Given the description of an element on the screen output the (x, y) to click on. 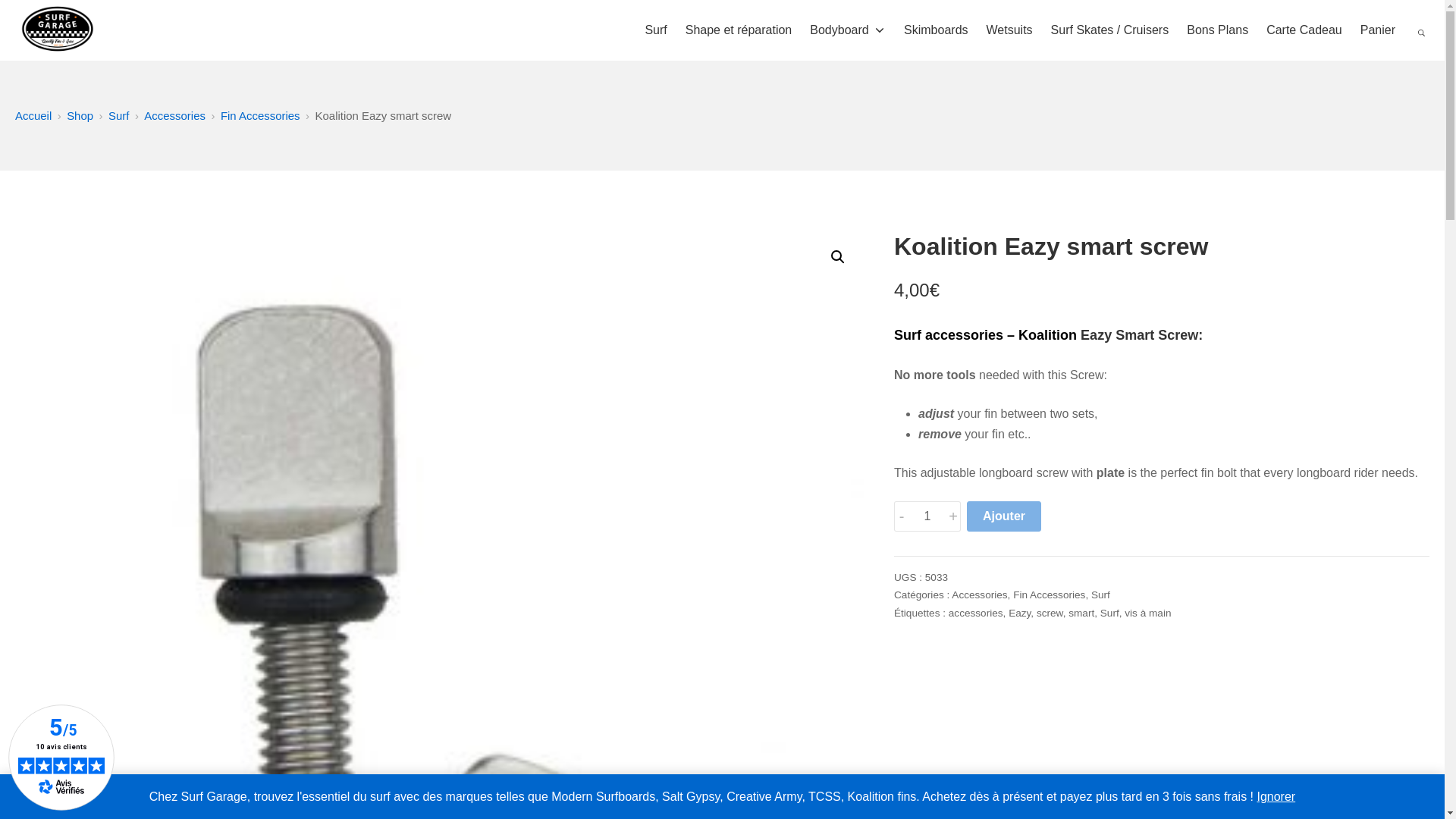
Bons Plans (1216, 29)
Bodyboard (847, 29)
Wetsuits (1009, 29)
SurfGarage (58, 30)
Accueil (32, 115)
Rechercher (49, 15)
Carte Cadeau (1304, 29)
Surf (655, 29)
Skimboards (936, 29)
